Given the description of an element on the screen output the (x, y) to click on. 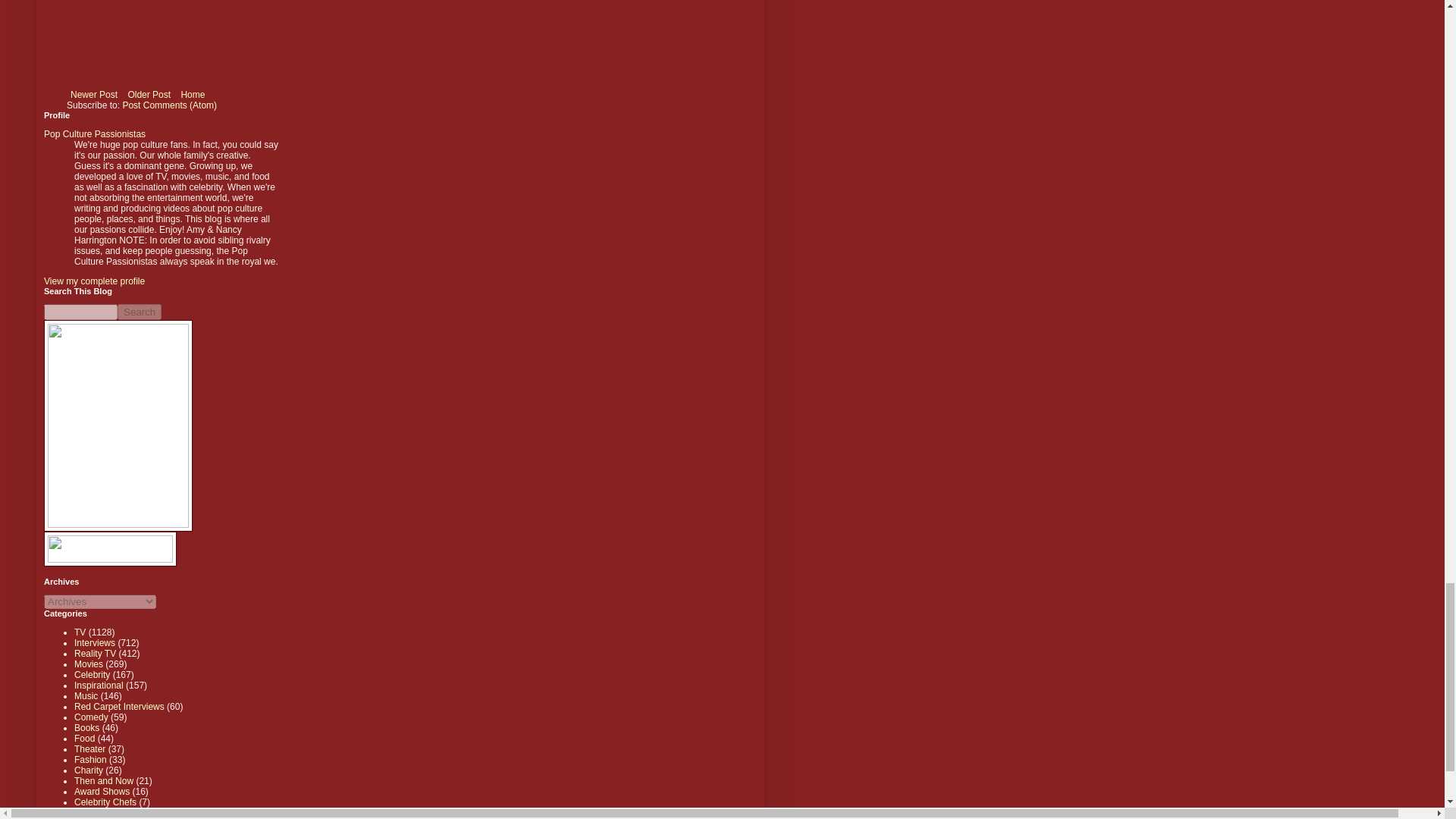
Interviews (94, 643)
Inspirational (98, 685)
Newer Post (93, 94)
Older Post (148, 94)
Search (139, 311)
Pop Culture Passionistas (94, 133)
Home (192, 94)
View my complete profile (93, 281)
Newer Post (93, 94)
Music (85, 696)
search (139, 311)
Search (139, 311)
Comedy (90, 716)
TV (79, 632)
Movies (88, 664)
